Given the description of an element on the screen output the (x, y) to click on. 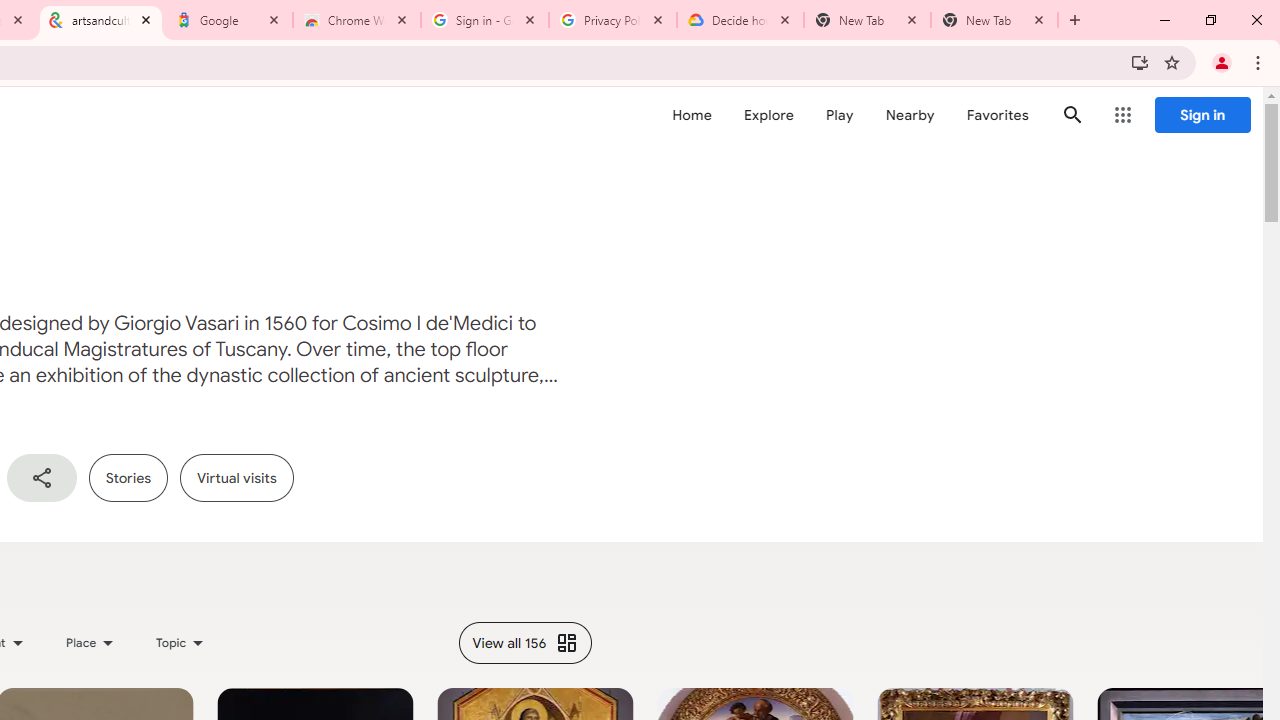
Nearby (910, 115)
Home (691, 115)
Explore (768, 115)
artsandculture.google.com/partner/uffizi-gallery (101, 20)
Play (840, 115)
Chrome Web Store - Color themes by Chrome (357, 20)
Install Google Arts & Culture (1139, 62)
Google (229, 20)
Place (90, 642)
